Given the description of an element on the screen output the (x, y) to click on. 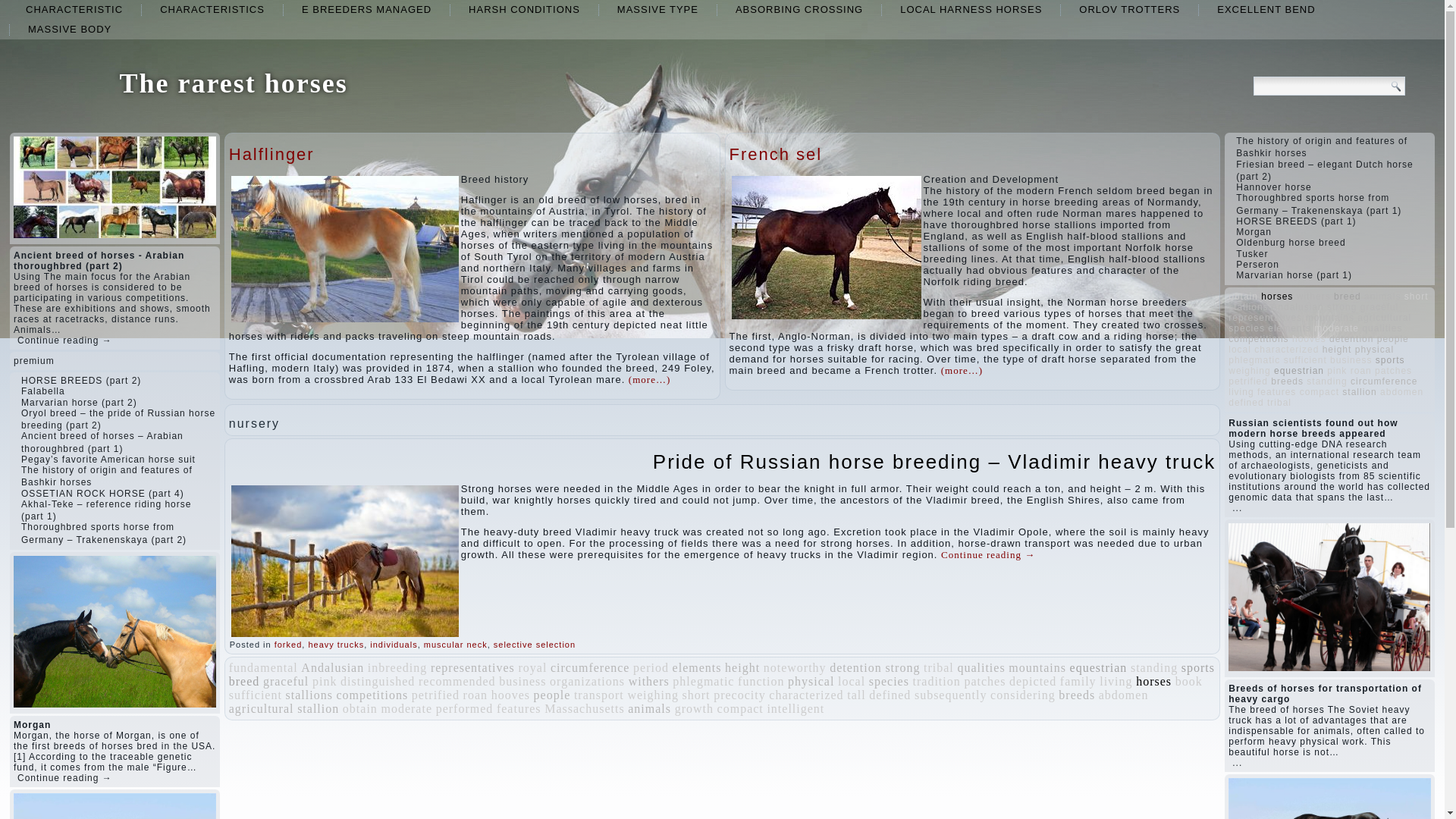
local harness horses (970, 9)
heavy trucks (335, 644)
absorbing crossing (799, 9)
Halflinger (271, 153)
Massive type (656, 9)
Orlov trotters (1129, 9)
forked (288, 644)
fundamental (263, 667)
LOCAL HARNESS HORSES (970, 9)
CHARACTERISTICS (211, 9)
